Given the description of an element on the screen output the (x, y) to click on. 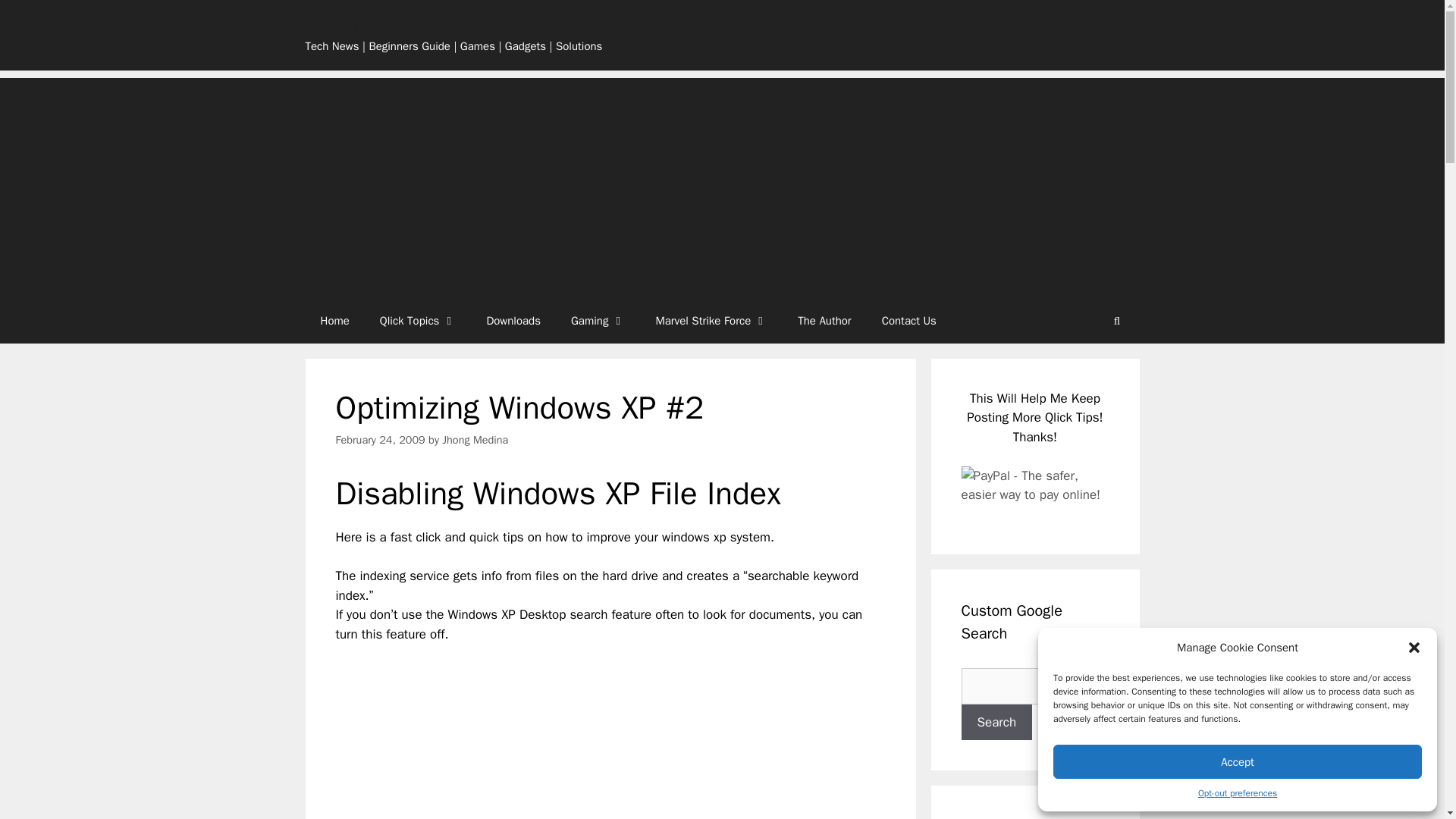
Accept (1237, 761)
Search (996, 721)
Marvel Strike Force (711, 320)
Gaming (598, 320)
Opt-out preferences (1237, 793)
Qlick Tech Blog (367, 25)
View all posts by Jhong Medina (475, 439)
Downloads (513, 320)
Qlick Topics (418, 320)
